Given the description of an element on the screen output the (x, y) to click on. 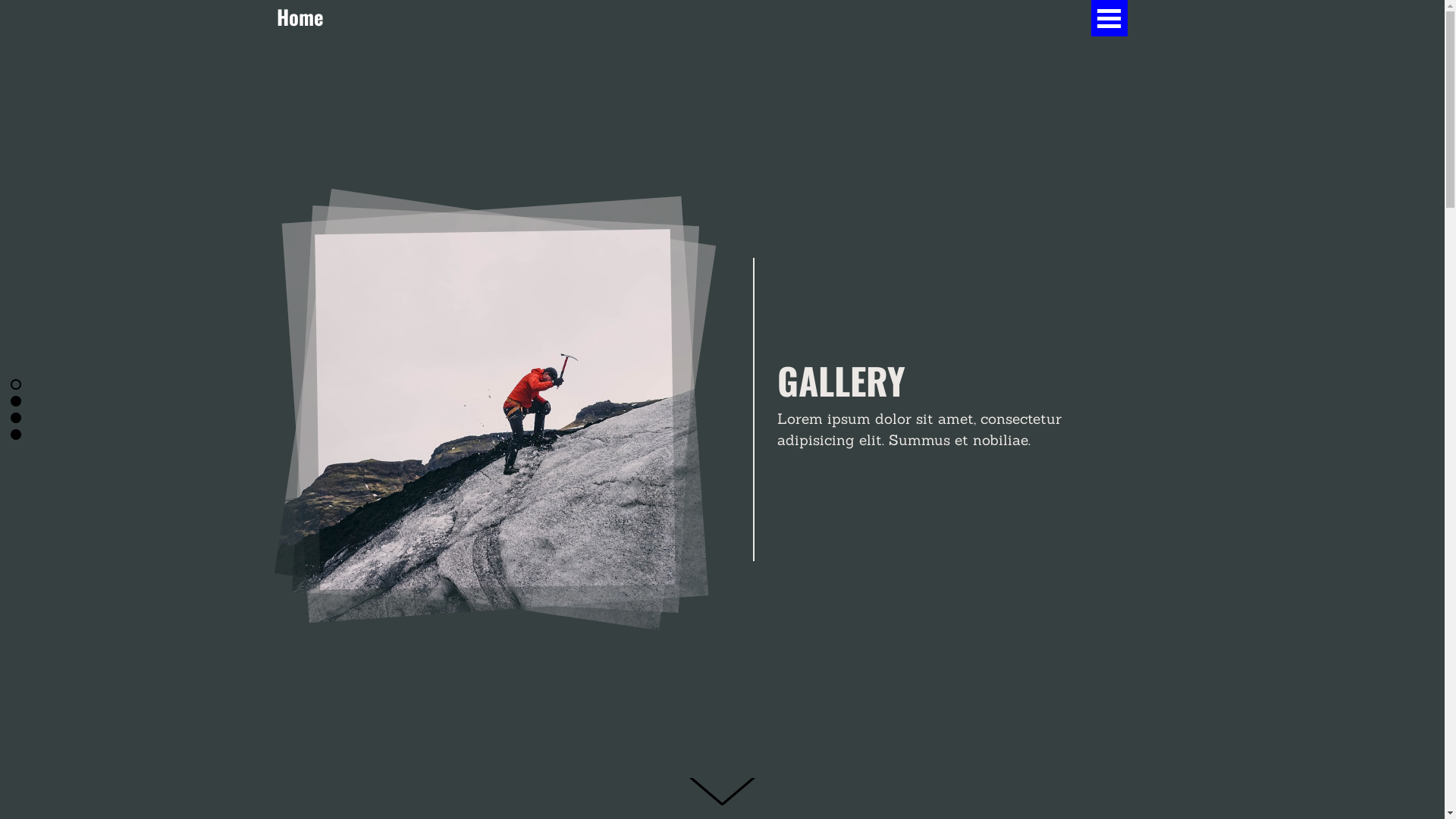
Home Element type: text (299, 16)
